Given the description of an element on the screen output the (x, y) to click on. 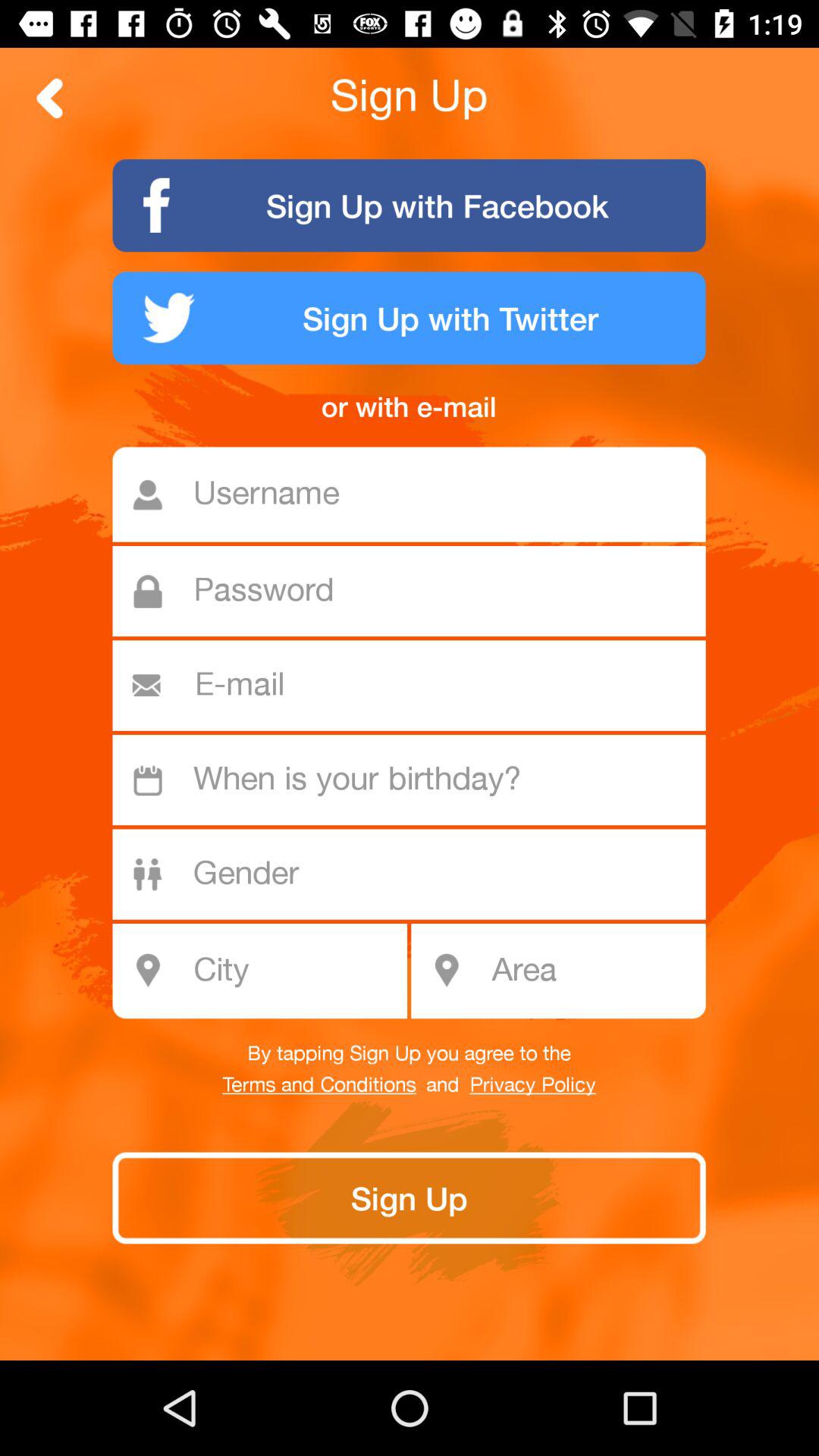
type in city (268, 970)
